Given the description of an element on the screen output the (x, y) to click on. 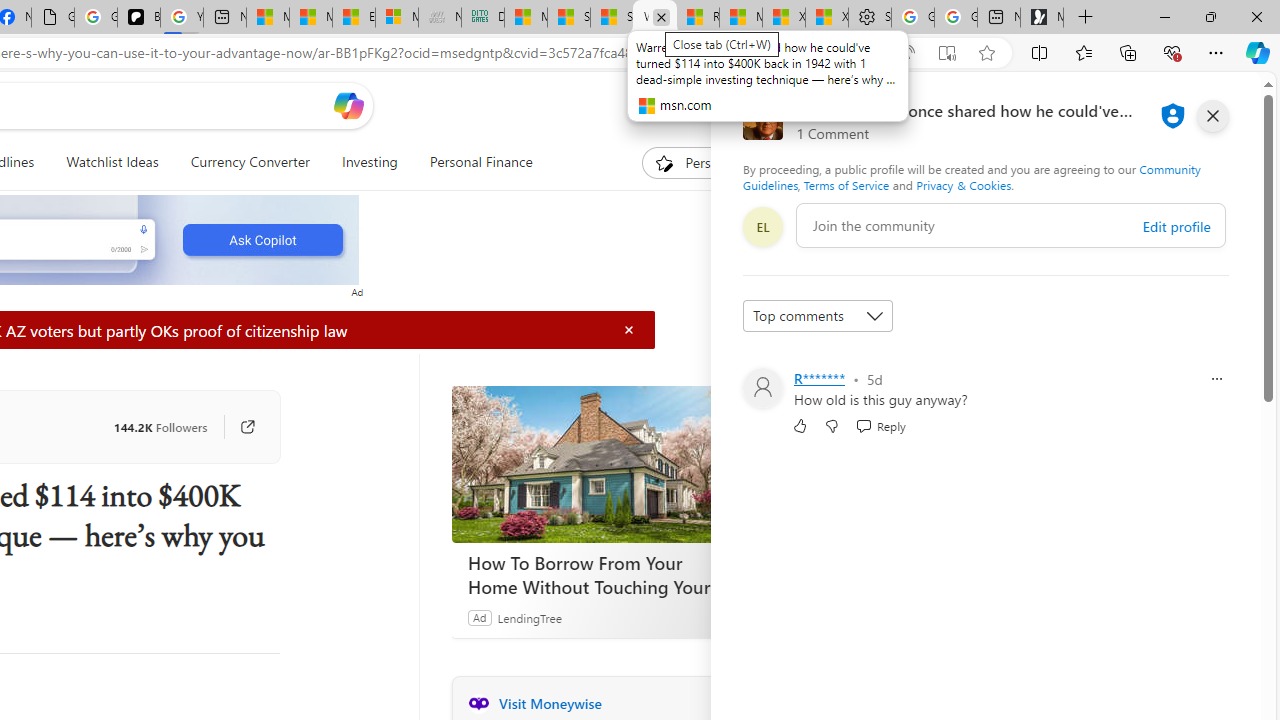
Entertainment - MSN (353, 17)
close (1212, 115)
Investing (369, 162)
Profile Picture (762, 387)
Profile Picture (762, 387)
Investing (369, 162)
Watchlist Ideas (112, 162)
Currency Converter (250, 162)
Terms of Service (846, 184)
